Given the description of an element on the screen output the (x, y) to click on. 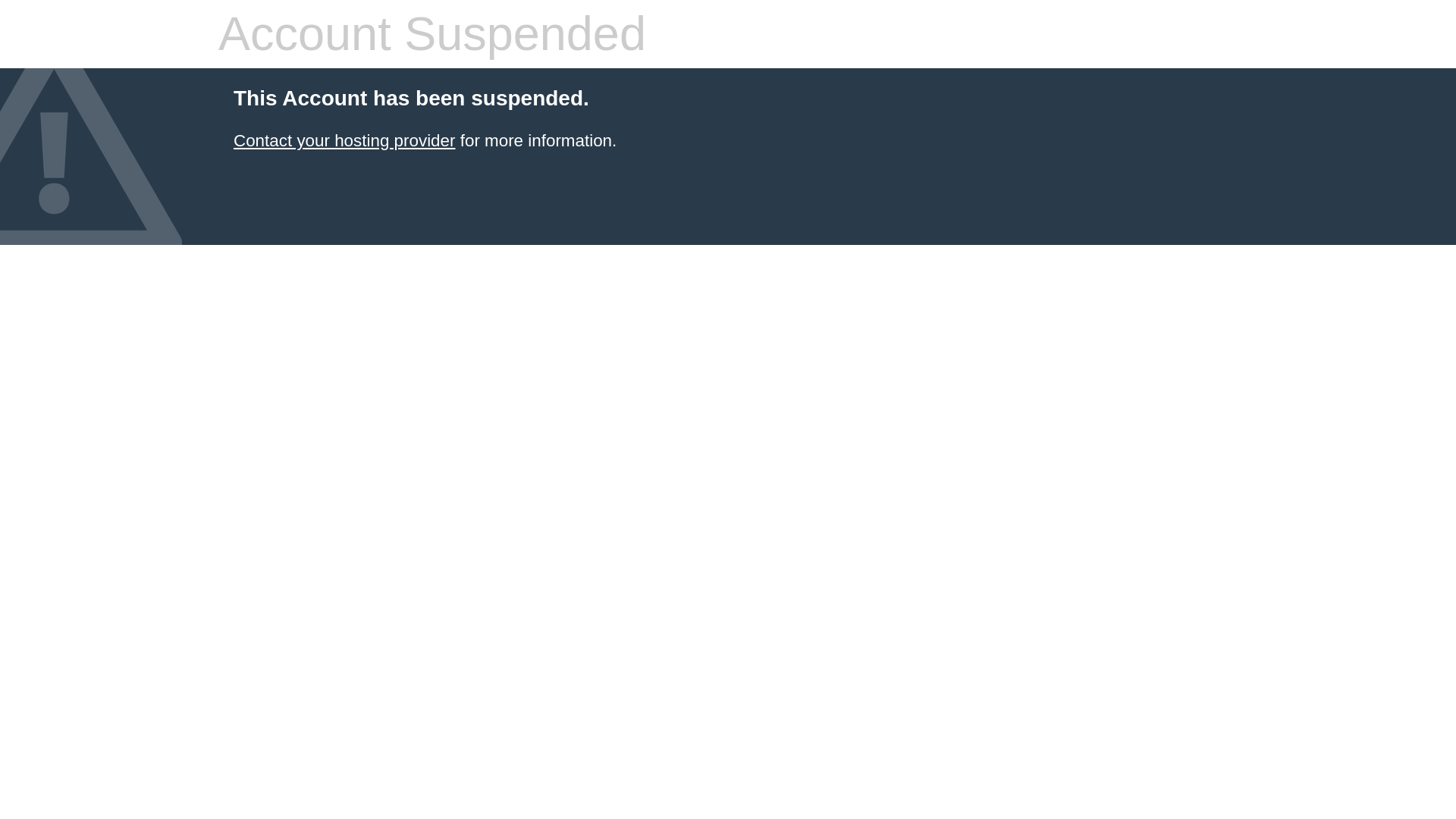
Contact your hosting provider (343, 140)
